Given the description of an element on the screen output the (x, y) to click on. 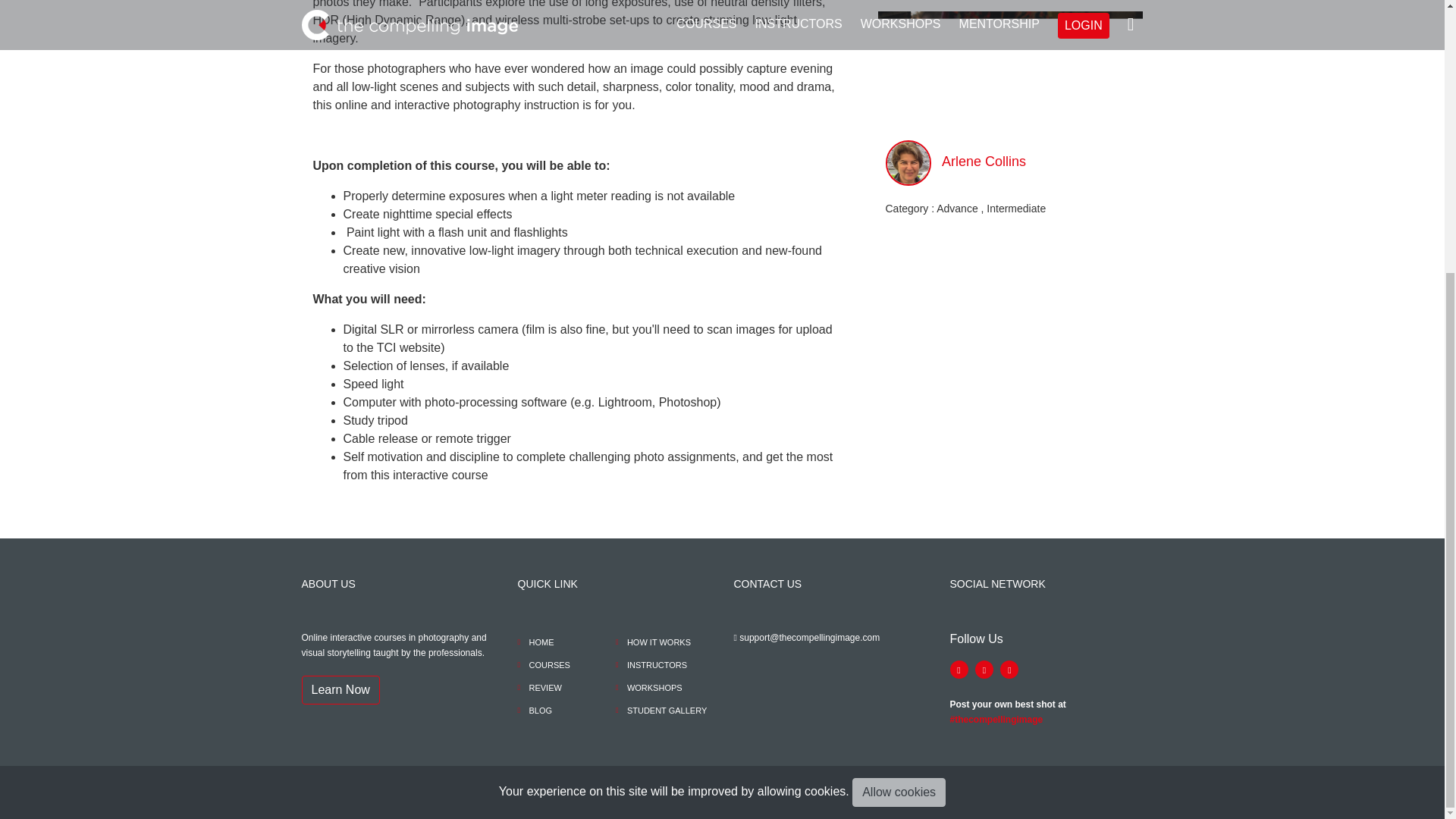
Arlene Collins (984, 160)
INSTRUCTORS (651, 664)
HOME (534, 642)
COURSES (542, 664)
Allow cookies (897, 390)
Learn Now (340, 689)
HOW IT WORKS (652, 642)
REVIEW (538, 687)
